Given the description of an element on the screen output the (x, y) to click on. 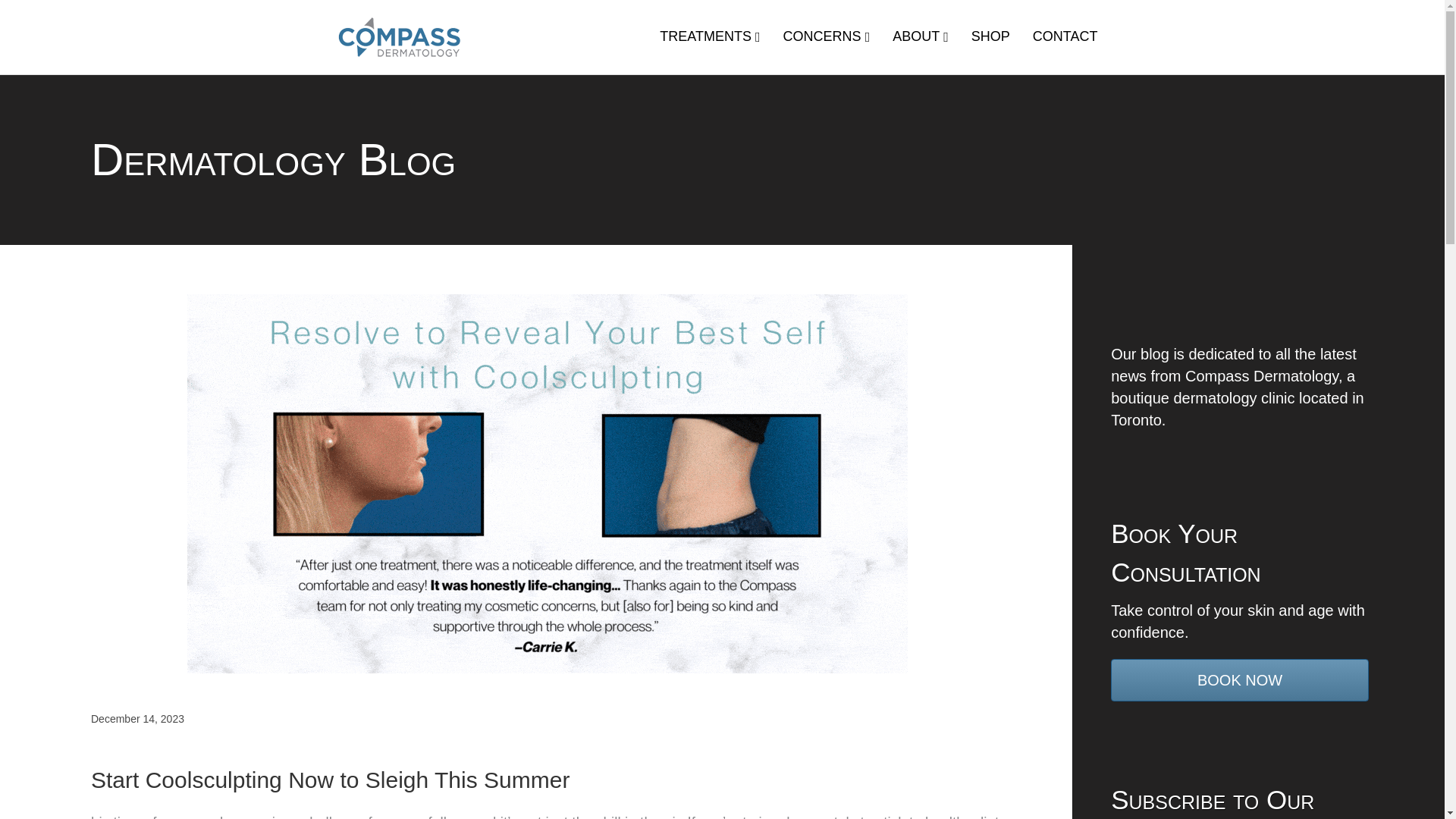
CONCERNS (826, 36)
TREATMENTS (709, 36)
